Given the description of an element on the screen output the (x, y) to click on. 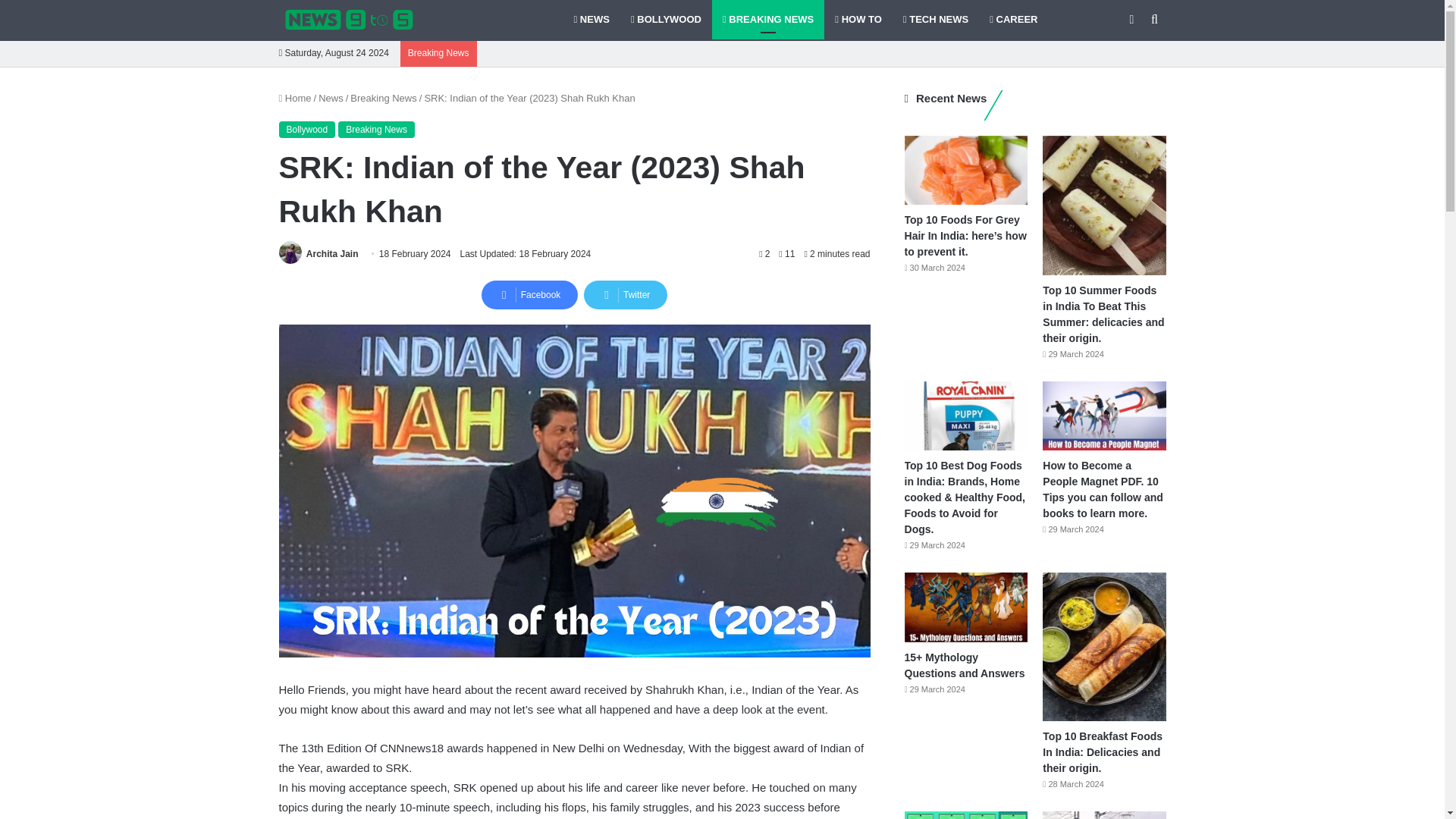
Archita Jain (331, 253)
Archita Jain (331, 253)
NEWS (591, 19)
BREAKING NEWS (767, 19)
Breaking News (383, 98)
CAREER (1013, 19)
BOLLYWOOD (665, 19)
Bollywood (307, 129)
news9to5.com (349, 19)
Facebook (529, 294)
